Given the description of an element on the screen output the (x, y) to click on. 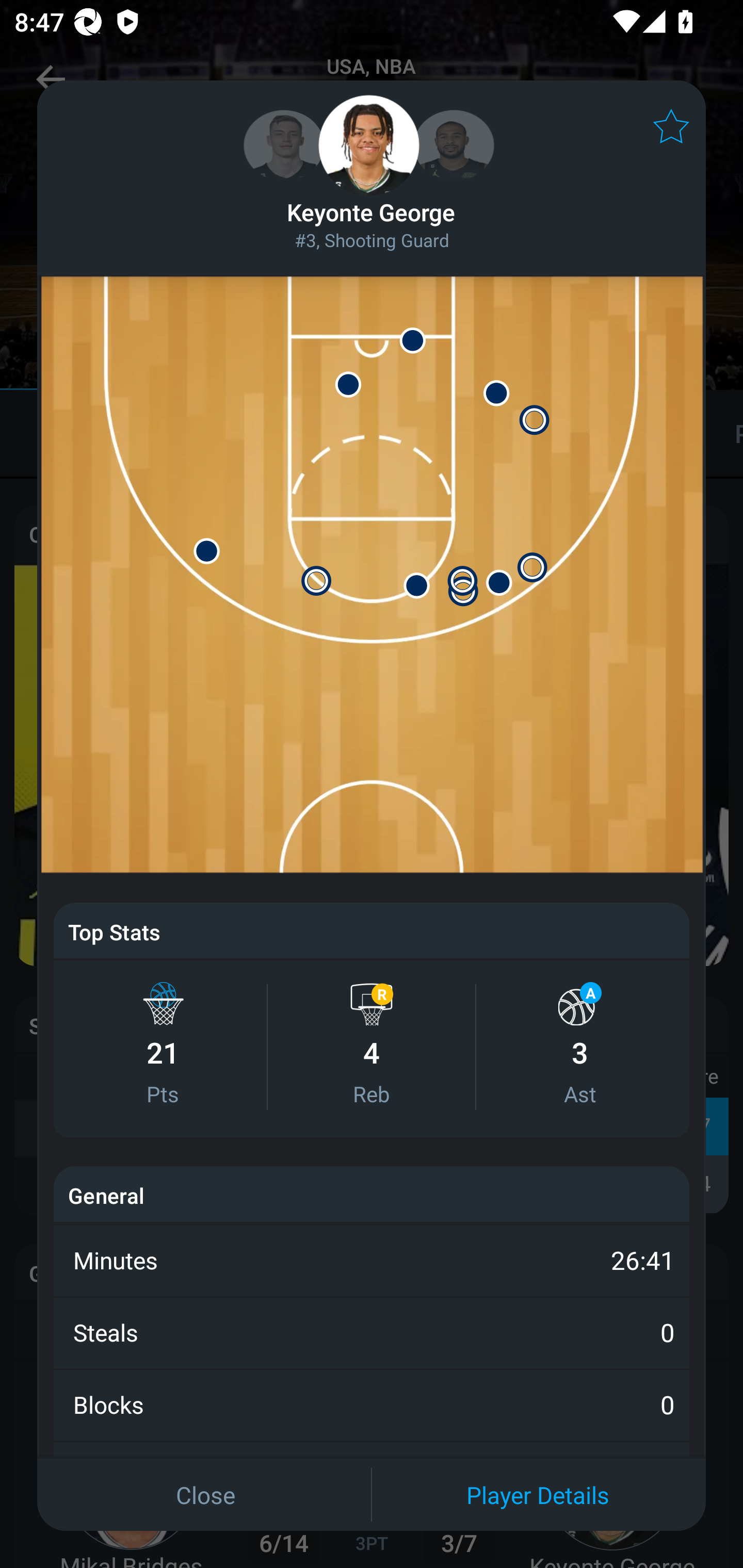
General (106, 1194)
Close (205, 1494)
Player Details (537, 1494)
